Given the description of an element on the screen output the (x, y) to click on. 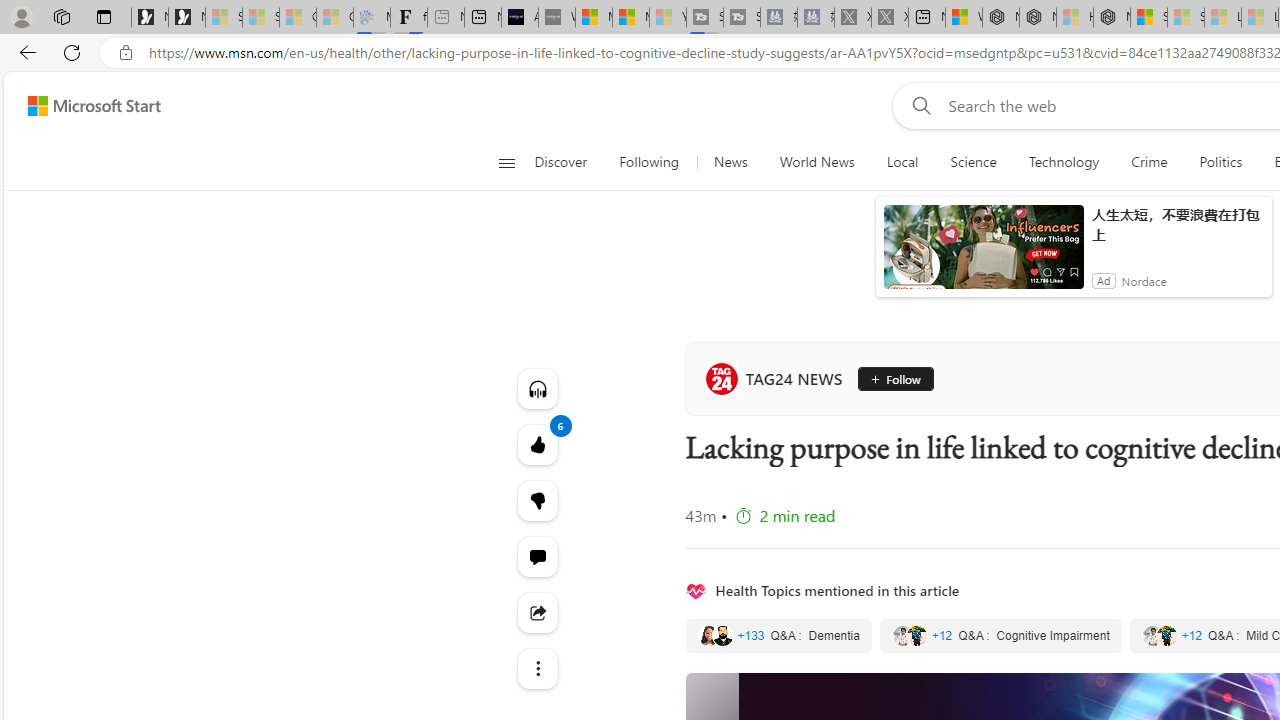
Class: quote-thumbnail (1165, 635)
Politics (1220, 162)
AI Voice Changer for PC and Mac - Voice.ai (519, 17)
Share this story (537, 612)
Science (973, 162)
Listen to this article (537, 388)
Local (902, 162)
